Given the description of an element on the screen output the (x, y) to click on. 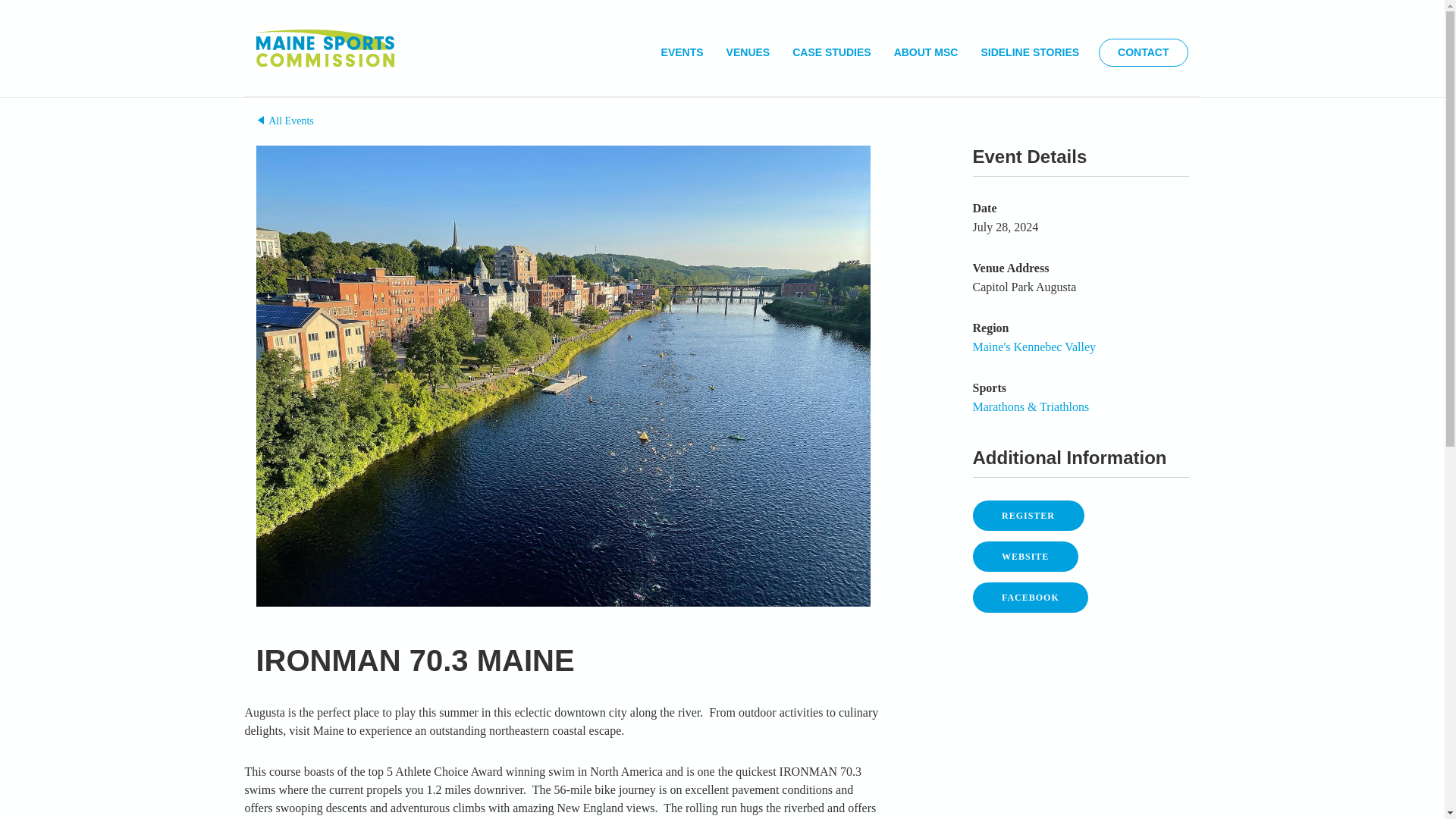
CASE STUDIES (831, 52)
WEBSITE (1024, 556)
Maine Sports Commission (323, 53)
SIDELINE STORIES (1028, 52)
CONTACT (1143, 52)
REGISTER (1027, 515)
FACEBOOK (1029, 597)
EVENTS (682, 52)
VENUES (748, 52)
ABOUT MSC (925, 52)
All Events (285, 120)
Maine's Kennebec Valley (1034, 346)
